Given the description of an element on the screen output the (x, y) to click on. 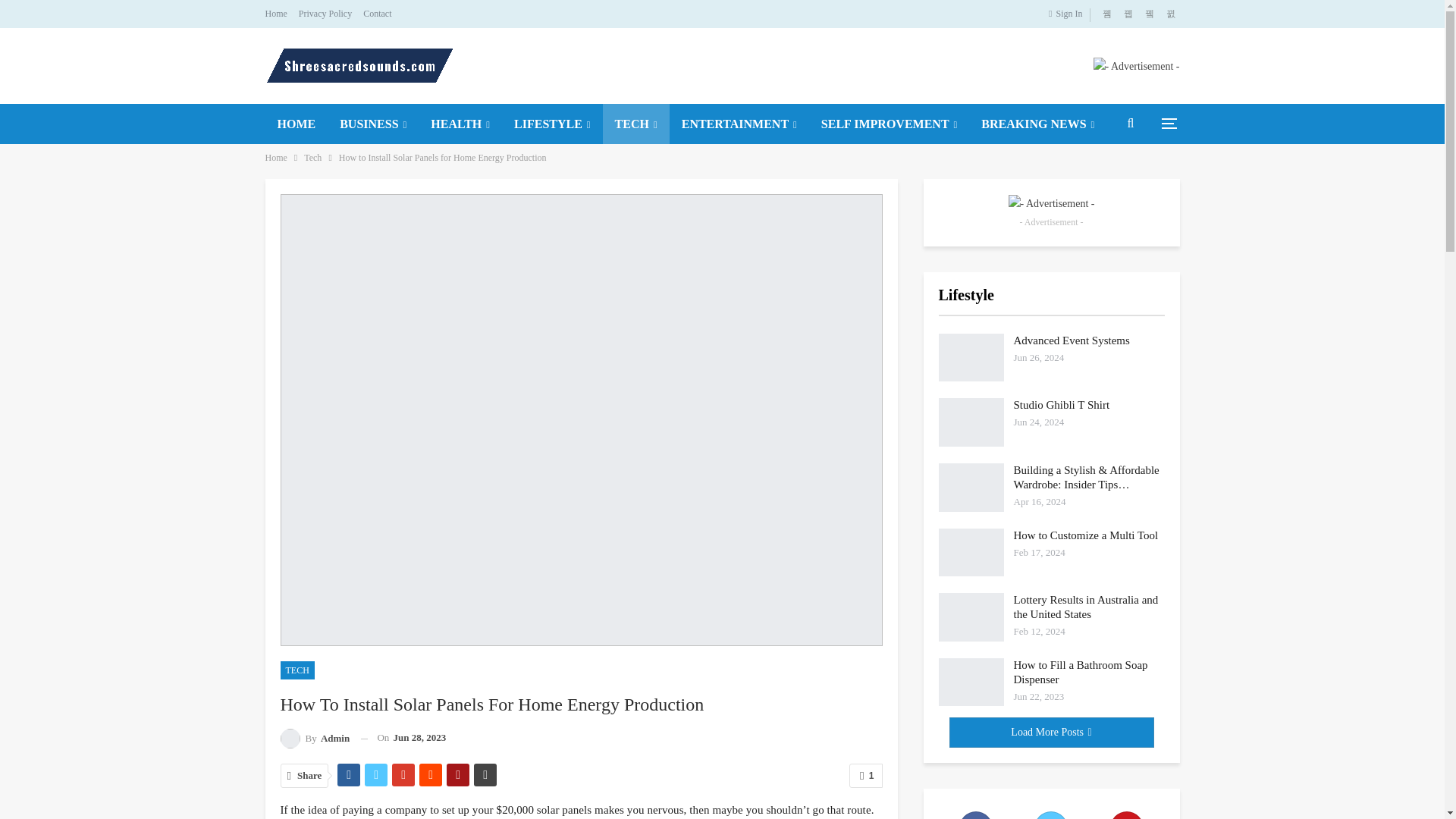
HEALTH (460, 124)
Home (275, 13)
HOME (296, 124)
BUSINESS (373, 124)
Privacy Policy (325, 13)
Advanced Event Systems (971, 357)
LIFESTYLE (552, 124)
Contact (376, 13)
Studio Ghibli T Shirt (971, 422)
TECH (635, 124)
